Given the description of an element on the screen output the (x, y) to click on. 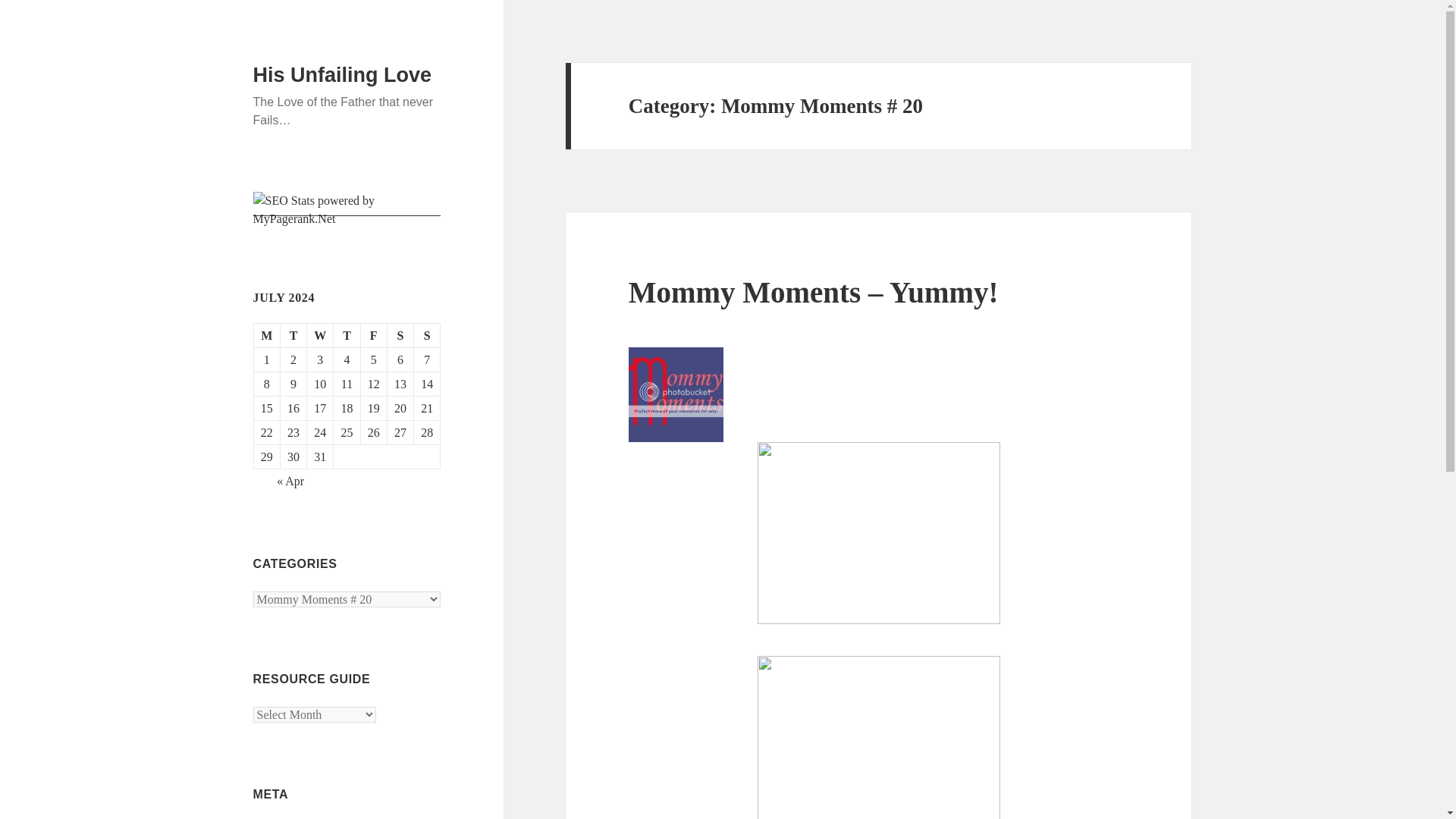
Sunday (427, 335)
Thursday (346, 335)
Monday (267, 335)
His Unfailing Love (342, 74)
Friday (374, 335)
Tuesday (294, 335)
Saturday (400, 335)
Wednesday (320, 335)
